Given the description of an element on the screen output the (x, y) to click on. 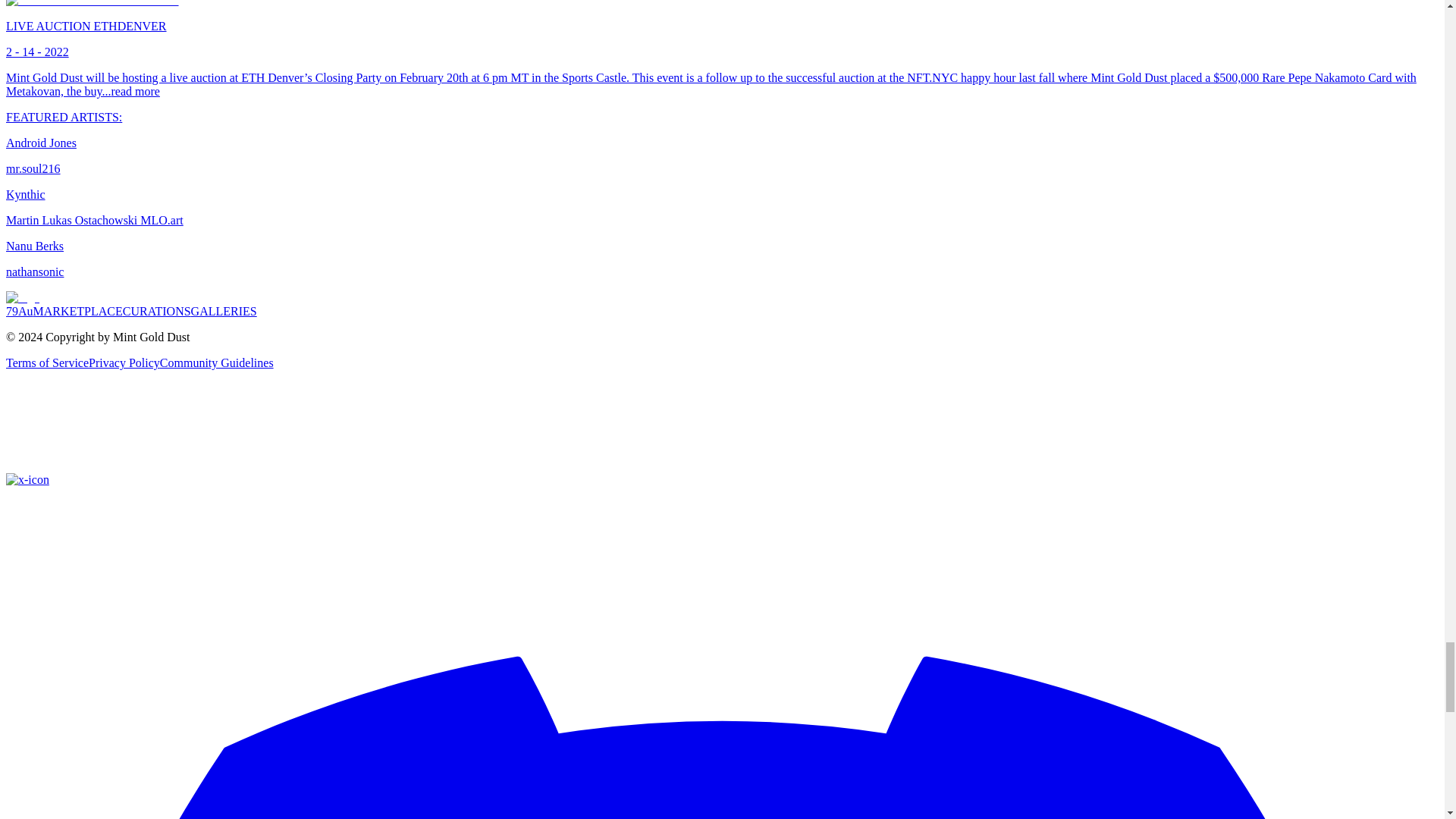
79Au (19, 310)
MARKETPLACE (77, 310)
